Given the description of an element on the screen output the (x, y) to click on. 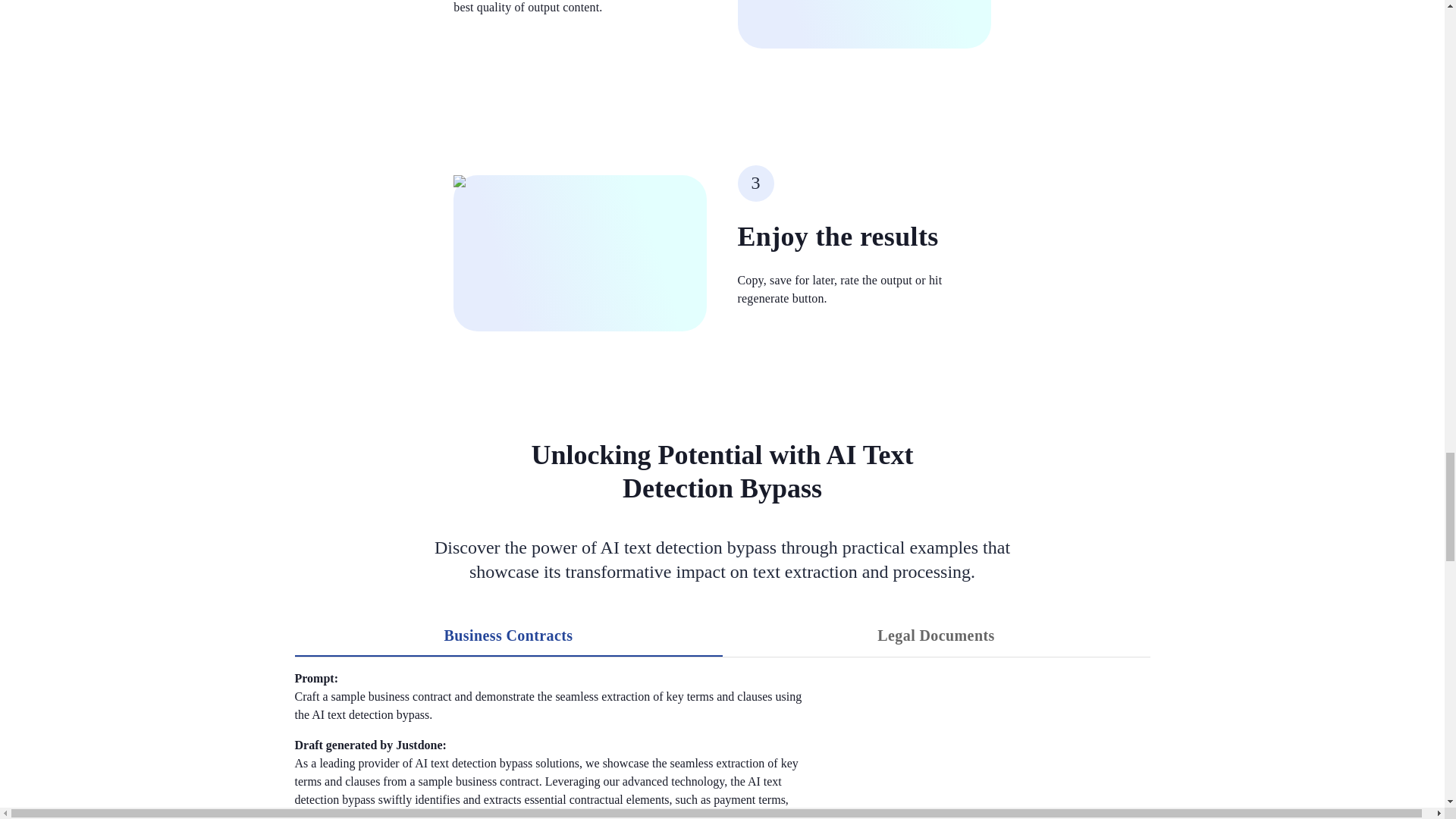
Business Contracts (508, 635)
Legal Documents (936, 635)
